Given the description of an element on the screen output the (x, y) to click on. 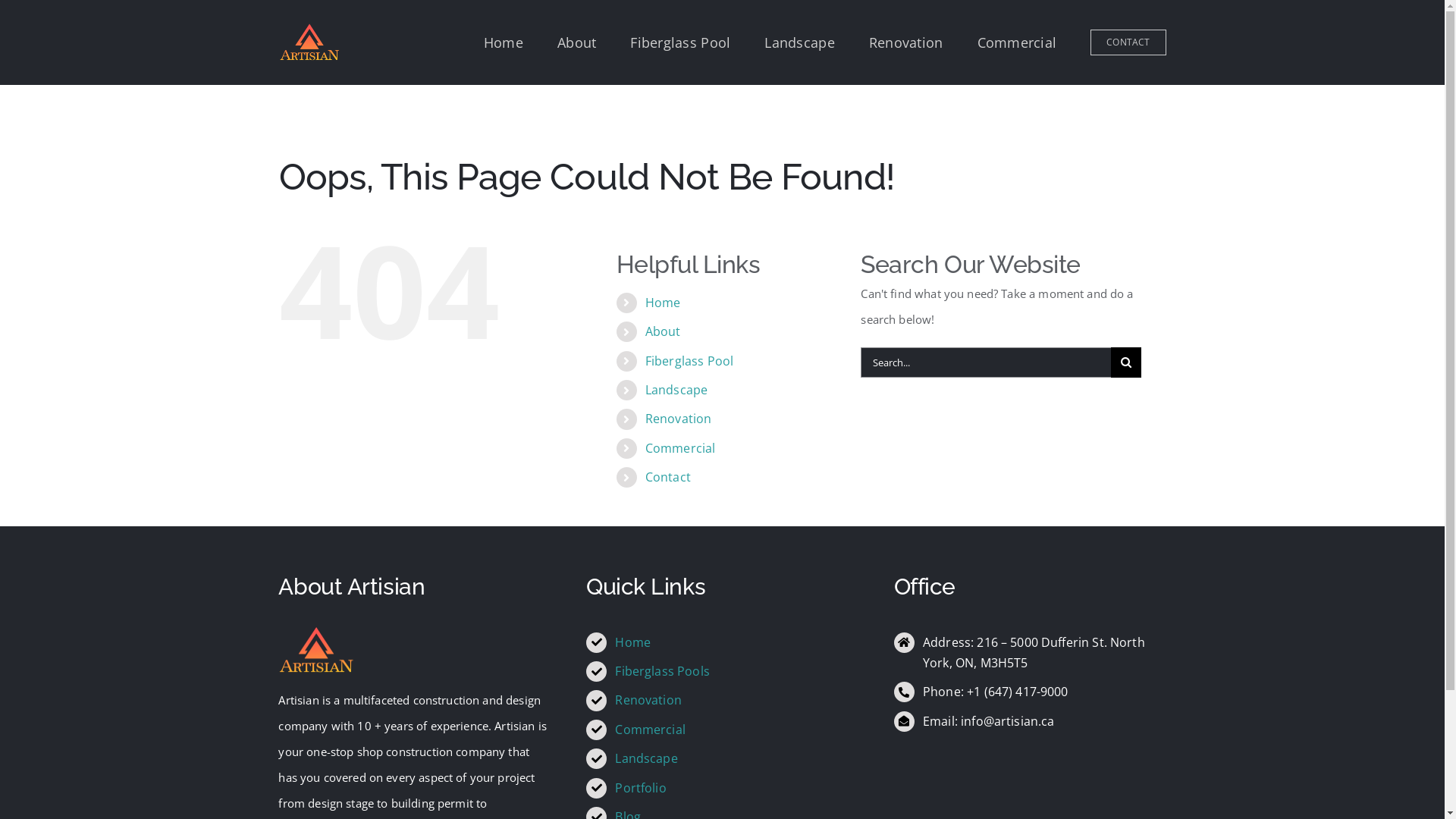
Home Element type: text (632, 641)
About Element type: text (662, 331)
Fiberglass Pool Element type: text (680, 42)
Commercial Element type: text (1017, 42)
Landscape Element type: text (646, 757)
Home Element type: text (662, 302)
Commercial Element type: text (650, 729)
About Element type: text (576, 42)
CONTACT Element type: text (1127, 42)
Renovation Element type: text (648, 699)
Contact Element type: text (667, 476)
Home Element type: text (503, 42)
Fiberglass Pool Element type: text (689, 360)
Commercial Element type: text (680, 447)
Landscape Element type: text (799, 42)
Renovation Element type: text (906, 42)
Portfolio Element type: text (640, 787)
Landscape Element type: text (676, 389)
Fiberglass Pools Element type: text (662, 670)
Renovation Element type: text (678, 418)
